Given the description of an element on the screen output the (x, y) to click on. 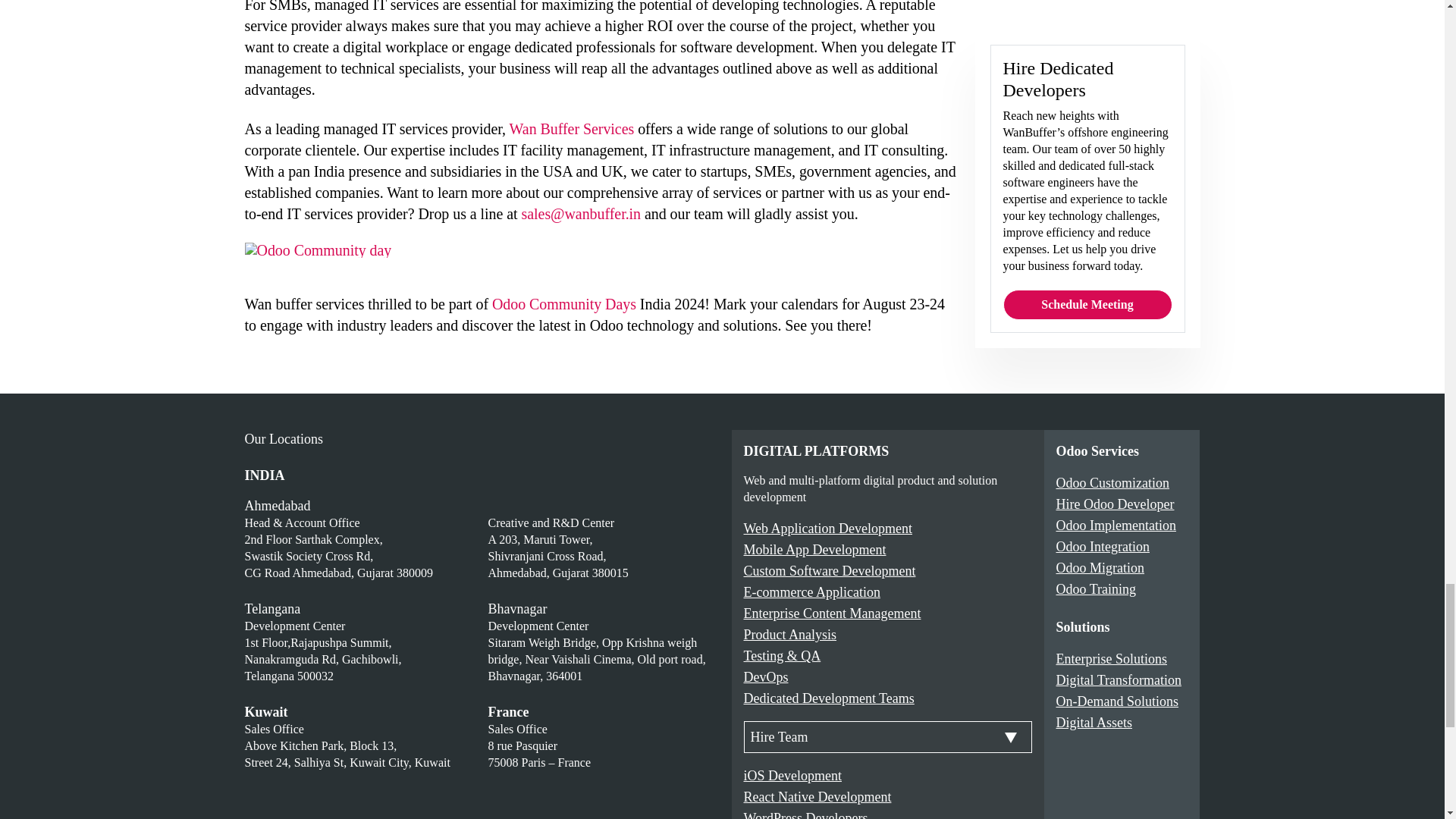
DevOps (764, 676)
React Native Development (816, 796)
iOS Development (791, 775)
Odoo Community Days (564, 303)
Enterprise Content Management (831, 613)
Wan Buffer Services (571, 128)
Web Application Development (827, 528)
Product Analysis (788, 634)
Custom Software Development (828, 570)
E-commerce Application (810, 591)
